Given the description of an element on the screen output the (x, y) to click on. 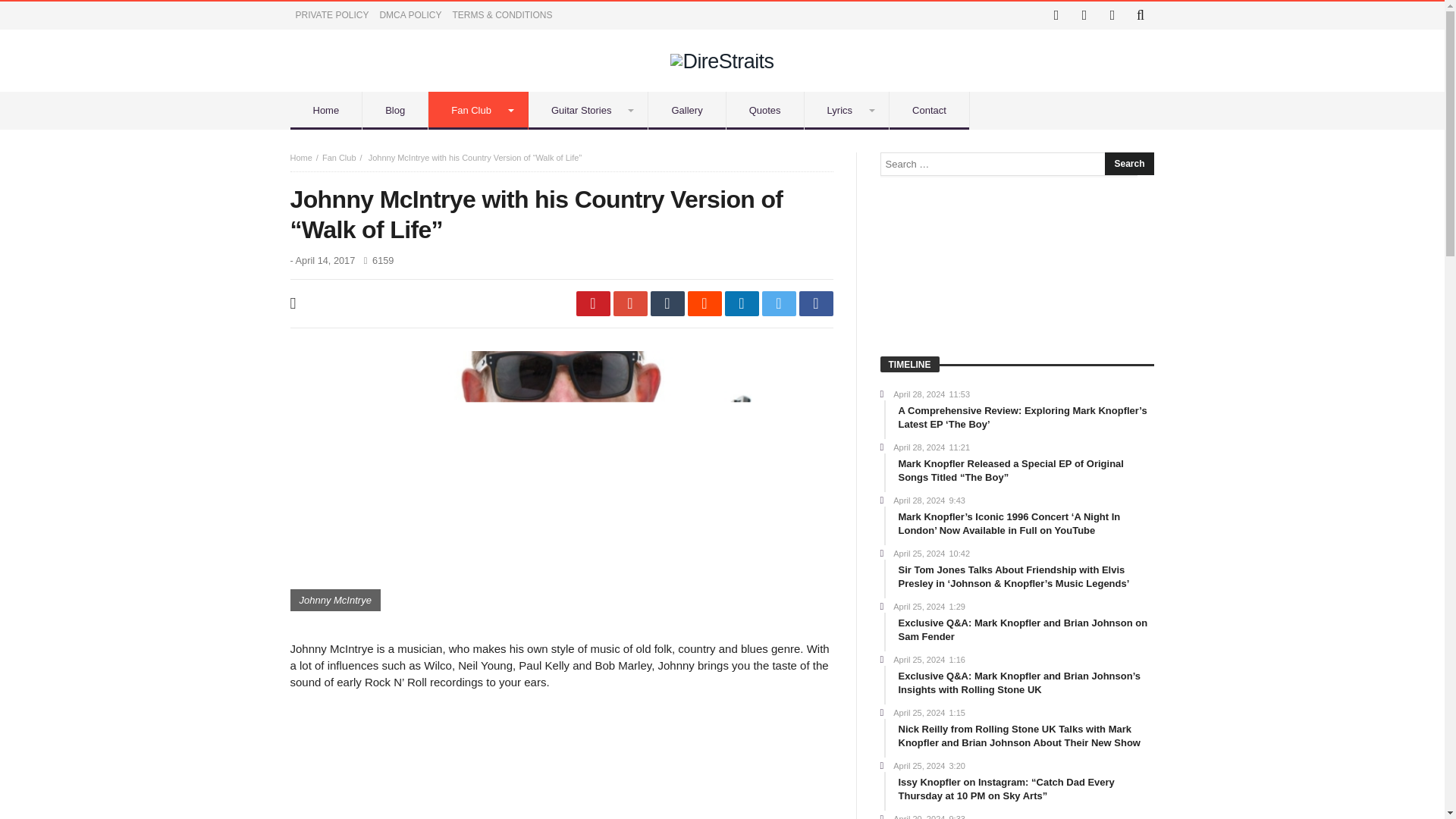
DMCA POLICY (409, 15)
linkedin (741, 303)
twitter (777, 303)
Home (325, 110)
facebook (815, 303)
PRIVATE POLICY (332, 15)
reddit (703, 303)
instagram (1084, 15)
Search (1129, 163)
Search (1129, 163)
